Given the description of an element on the screen output the (x, y) to click on. 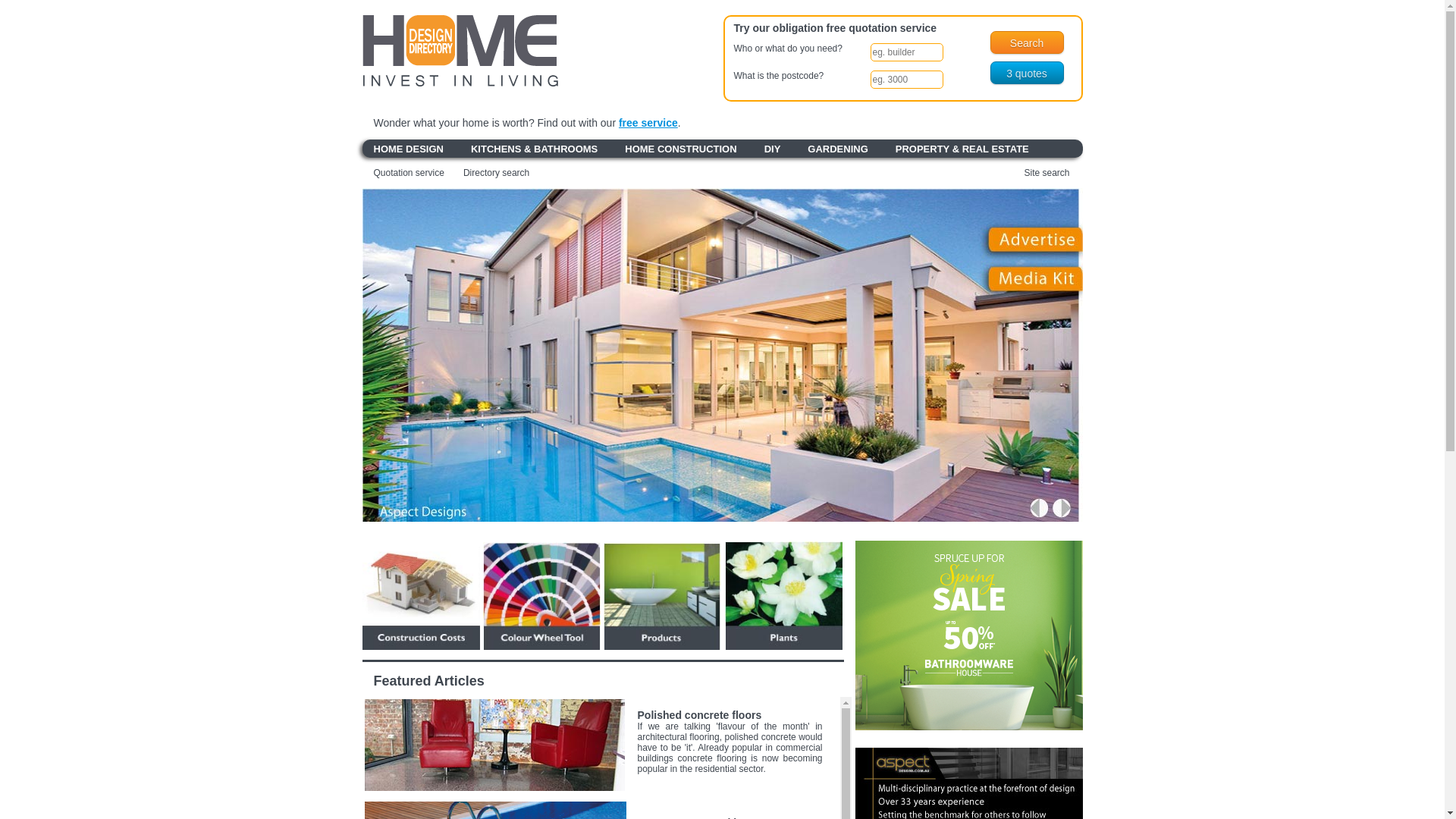
Directory search Element type: text (486, 172)
Site search Element type: text (1052, 172)
3 quotes Element type: text (1026, 72)
PROPERTY & REAL ESTATE Element type: text (962, 148)
Quotation service Element type: text (403, 172)
free service Element type: text (647, 122)
KITCHENS & BATHROOMS Element type: text (533, 148)
DIY Element type: text (772, 148)
HOME DESIGN Element type: text (407, 148)
GARDENING Element type: text (837, 148)
HOME CONSTRUCTION Element type: text (680, 148)
Search Element type: text (1026, 42)
Bathroomware House Mid Year Sale Element type: hover (968, 726)
